Given the description of an element on the screen output the (x, y) to click on. 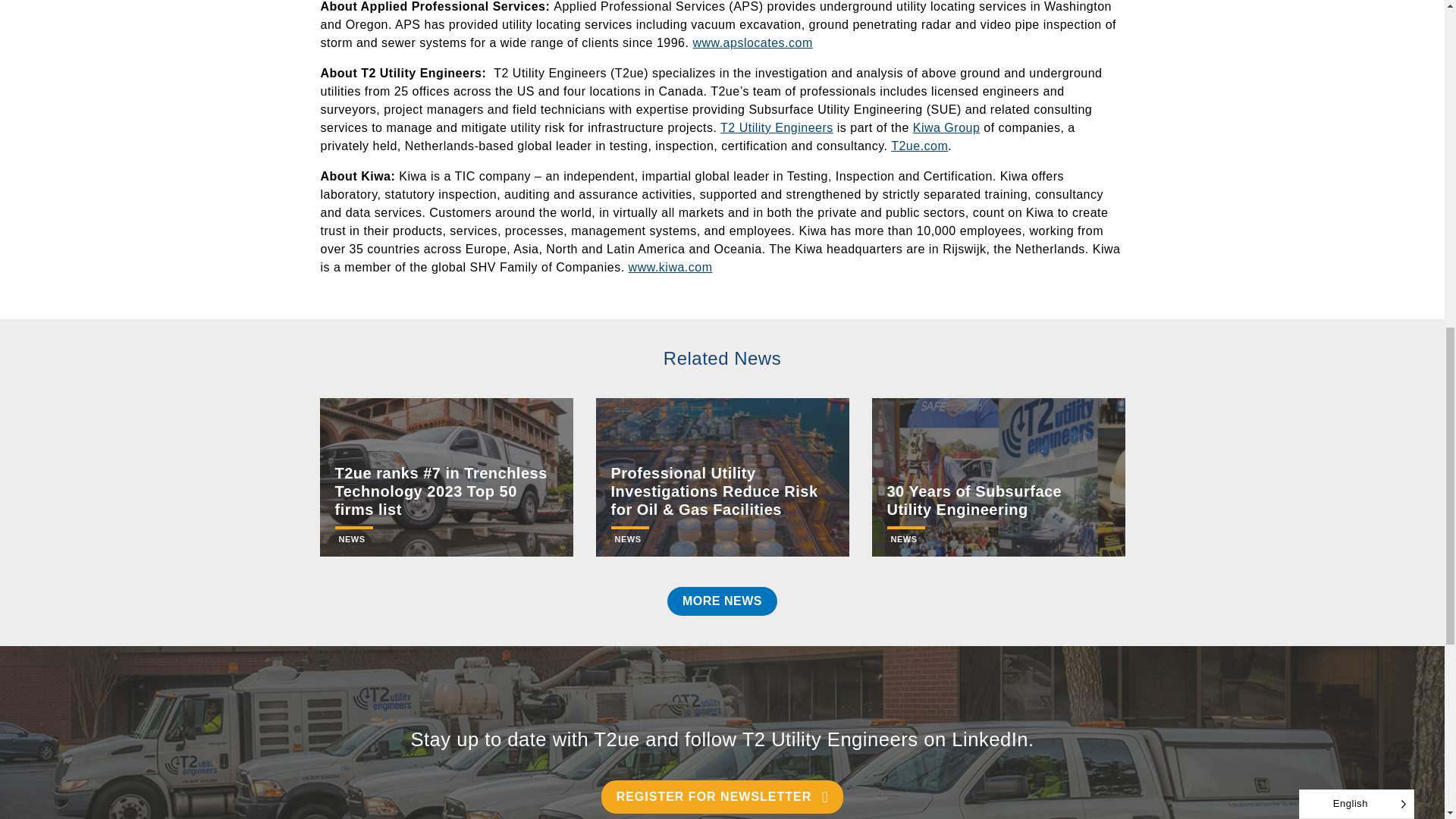
T2ue.com (919, 145)
NEWS (352, 538)
30 Years of Subsurface Utility Engineering (974, 500)
NEWS (904, 538)
T2 Utility Engineers (776, 127)
Kiwa Group (945, 127)
NEWS (629, 538)
www.apslocates.com (752, 42)
www.kiwa.com (670, 267)
MORE NEWS (721, 601)
